Given the description of an element on the screen output the (x, y) to click on. 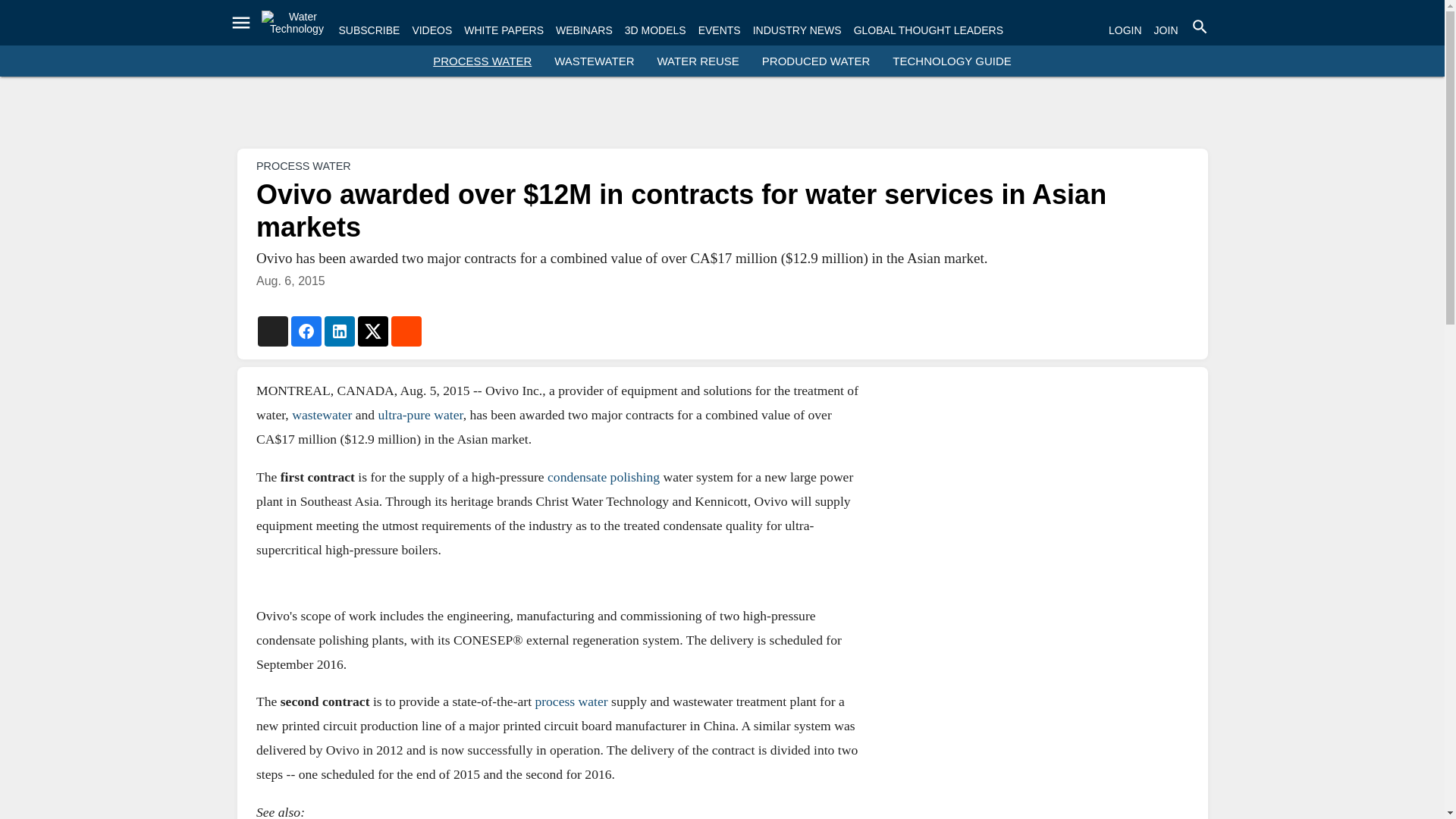
LOGIN (1124, 30)
WATER REUSE (698, 60)
GLOBAL THOUGHT LEADERS (928, 30)
WEBINARS (584, 30)
TECHNOLOGY GUIDE (951, 60)
SUBSCRIBE (367, 30)
WASTEWATER (593, 60)
INDUSTRY NEWS (796, 30)
VIDEOS (431, 30)
EVENTS (719, 30)
WHITE PAPERS (503, 30)
PROCESS WATER (481, 60)
JOIN (1165, 30)
3D MODELS (654, 30)
PROCESS WATER (303, 165)
